Given the description of an element on the screen output the (x, y) to click on. 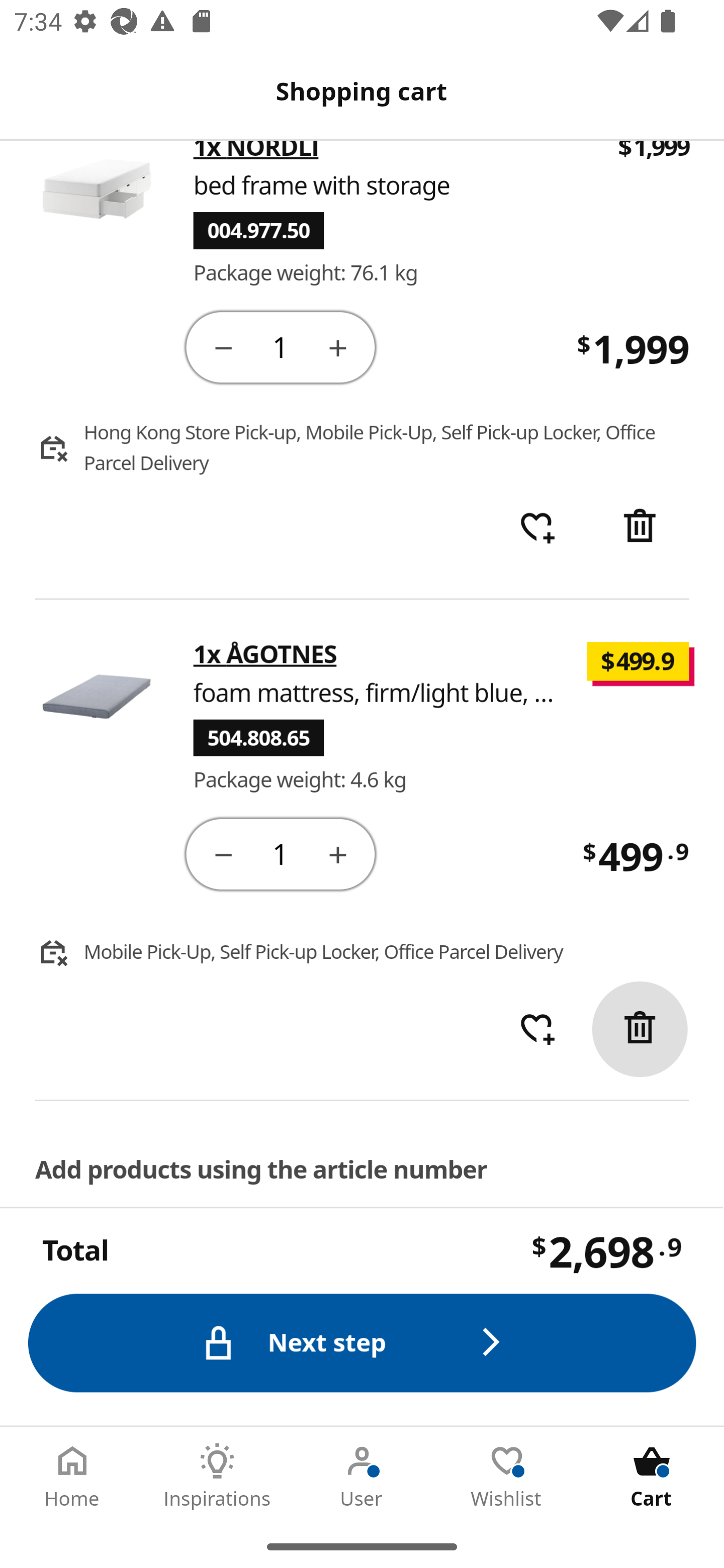
1x  NORDLI 1x  NORDLI (256, 155)
1 (281, 347)
 (223, 347)
 (338, 347)
  (536, 528)
 (641, 528)
1x  ÅGOTNES 1x  ÅGOTNES (265, 655)
1 (281, 854)
 (223, 854)
 (338, 854)
  (536, 1030)
 (640, 1029)
Home
Tab 1 of 5 (72, 1476)
Inspirations
Tab 2 of 5 (216, 1476)
User
Tab 3 of 5 (361, 1476)
Wishlist
Tab 4 of 5 (506, 1476)
Cart
Tab 5 of 5 (651, 1476)
